Given the description of an element on the screen output the (x, y) to click on. 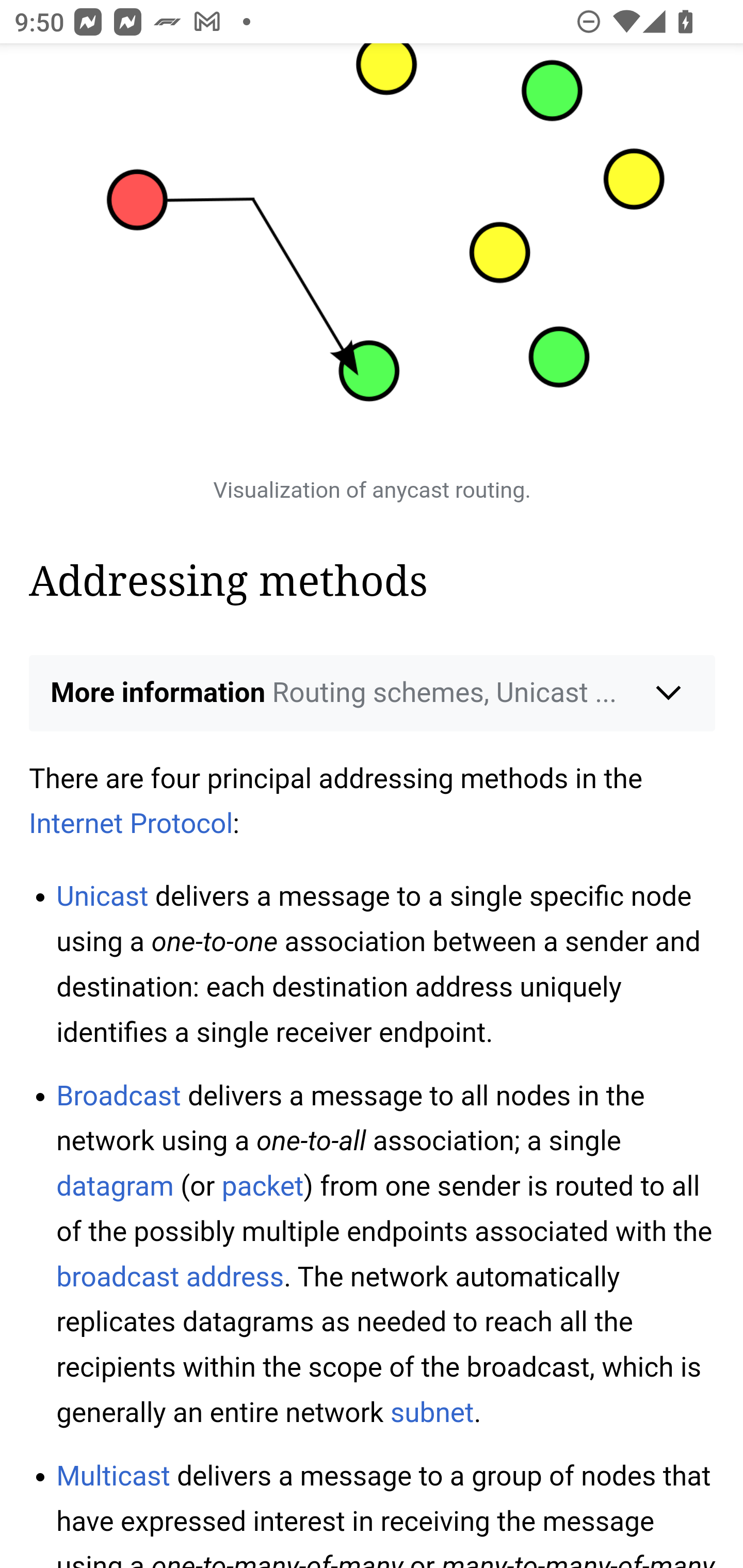
960px-Anycast-BM.svg (372, 250)
Expand table (372, 387)
Internet Protocol (131, 823)
Unicast (102, 896)
Broadcast (118, 1094)
datagram (114, 1186)
packet (262, 1186)
broadcast address (170, 1276)
subnet (432, 1412)
Multicast (113, 1475)
